Given the description of an element on the screen output the (x, y) to click on. 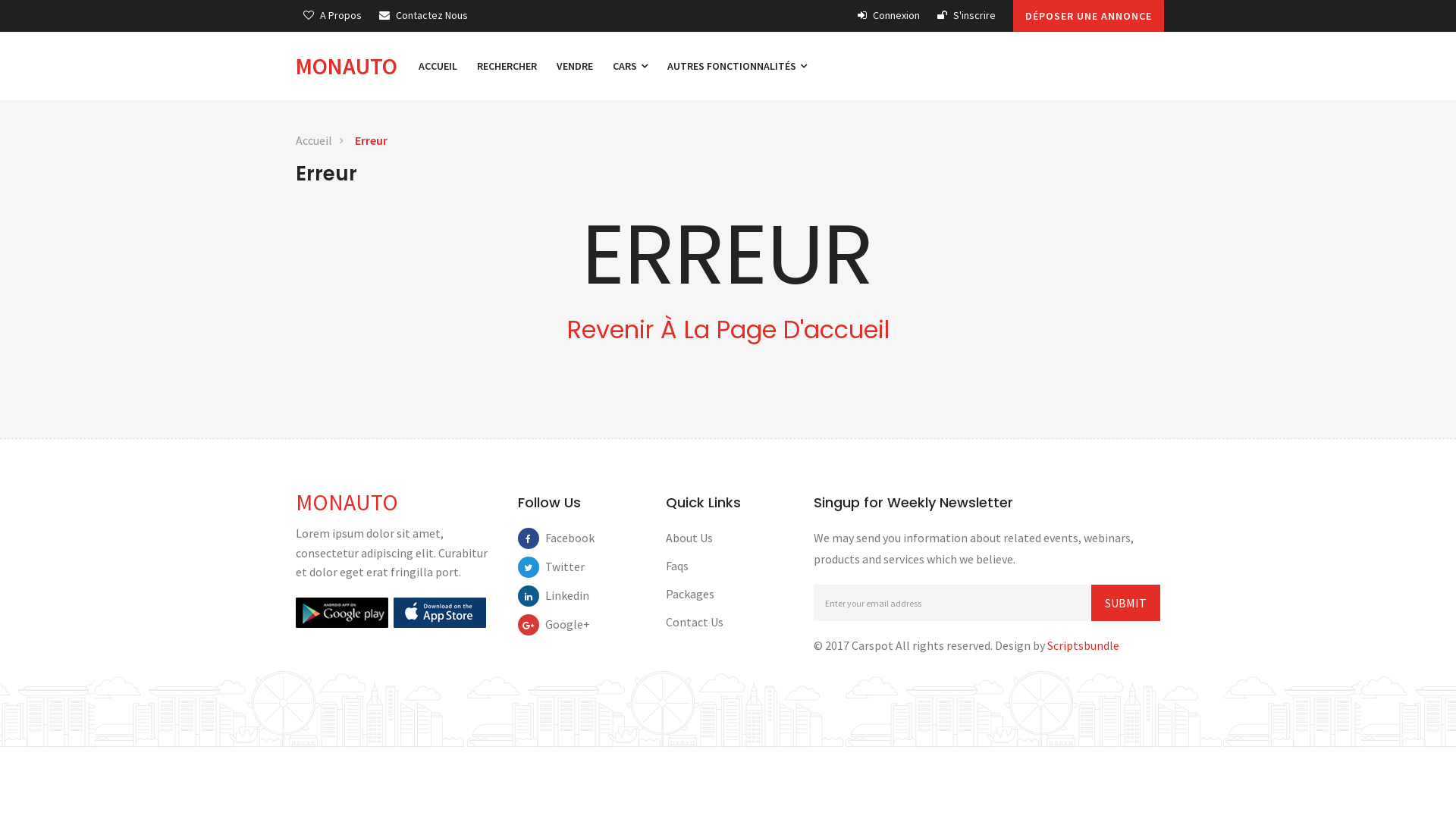
Accueil Element type: text (313, 140)
Contactez Nous Element type: text (423, 14)
A Propos Element type: text (332, 14)
VENDRE Element type: text (574, 65)
Faqs Element type: text (676, 565)
S'Inscrire Element type: text (966, 14)
MONAUTO Element type: text (351, 65)
ACCUEIL Element type: text (437, 65)
Packages Element type: text (689, 593)
About Us Element type: text (688, 537)
Contact Us Element type: text (694, 621)
CARS Element type: text (629, 65)
MONAUTO Element type: text (346, 501)
Erreur Element type: text (370, 140)
Scriptsbundle Element type: text (1082, 644)
RECHERCHER Element type: text (506, 65)
Connexion Element type: text (888, 14)
Submit Element type: text (1125, 602)
